Given the description of an element on the screen output the (x, y) to click on. 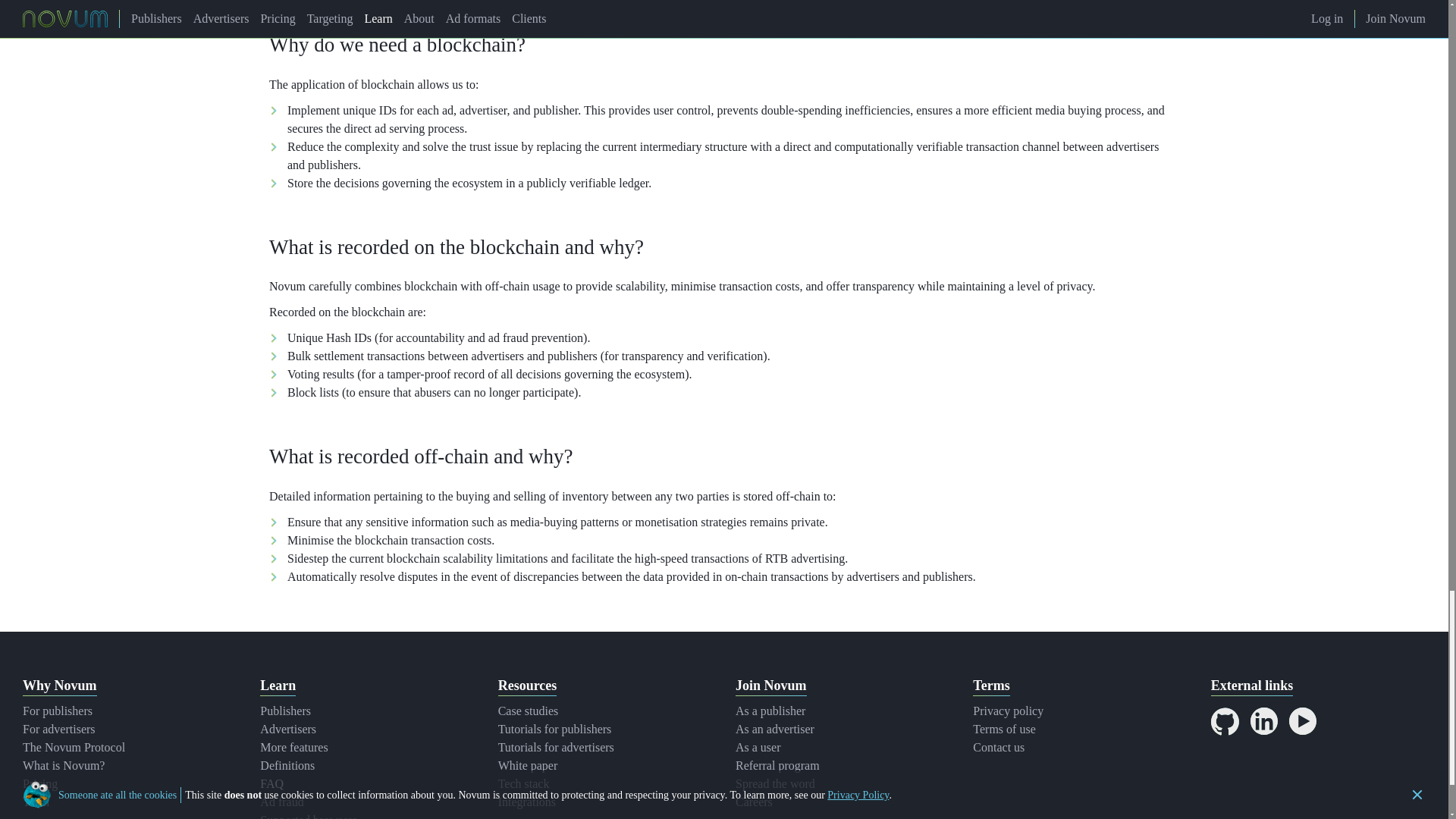
More features (293, 747)
Publishers (285, 710)
FAQ (271, 783)
Team (36, 801)
Definitions (287, 765)
Tutorials for publishers (554, 728)
Pricing (40, 783)
For advertisers (59, 728)
Tutorials for advertisers (555, 747)
What is Novum? (63, 765)
Ad fraud (281, 801)
Advertisers (287, 728)
For publishers (58, 710)
The Novum Protocol (74, 747)
Case studies (528, 710)
